Given the description of an element on the screen output the (x, y) to click on. 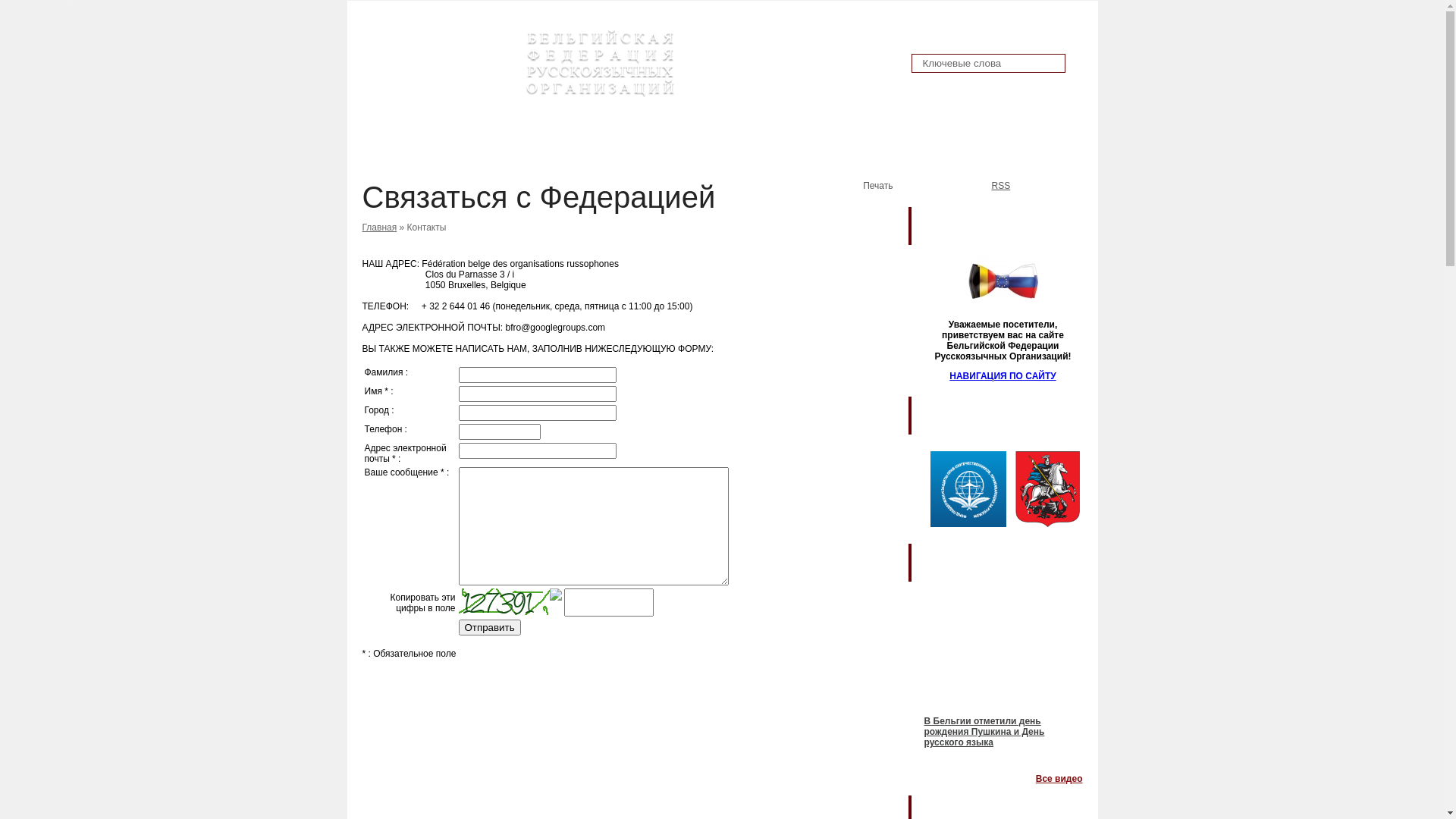
RSS Element type: text (992, 187)
YouTube video player Element type: hover (1002, 649)
